Given the description of an element on the screen output the (x, y) to click on. 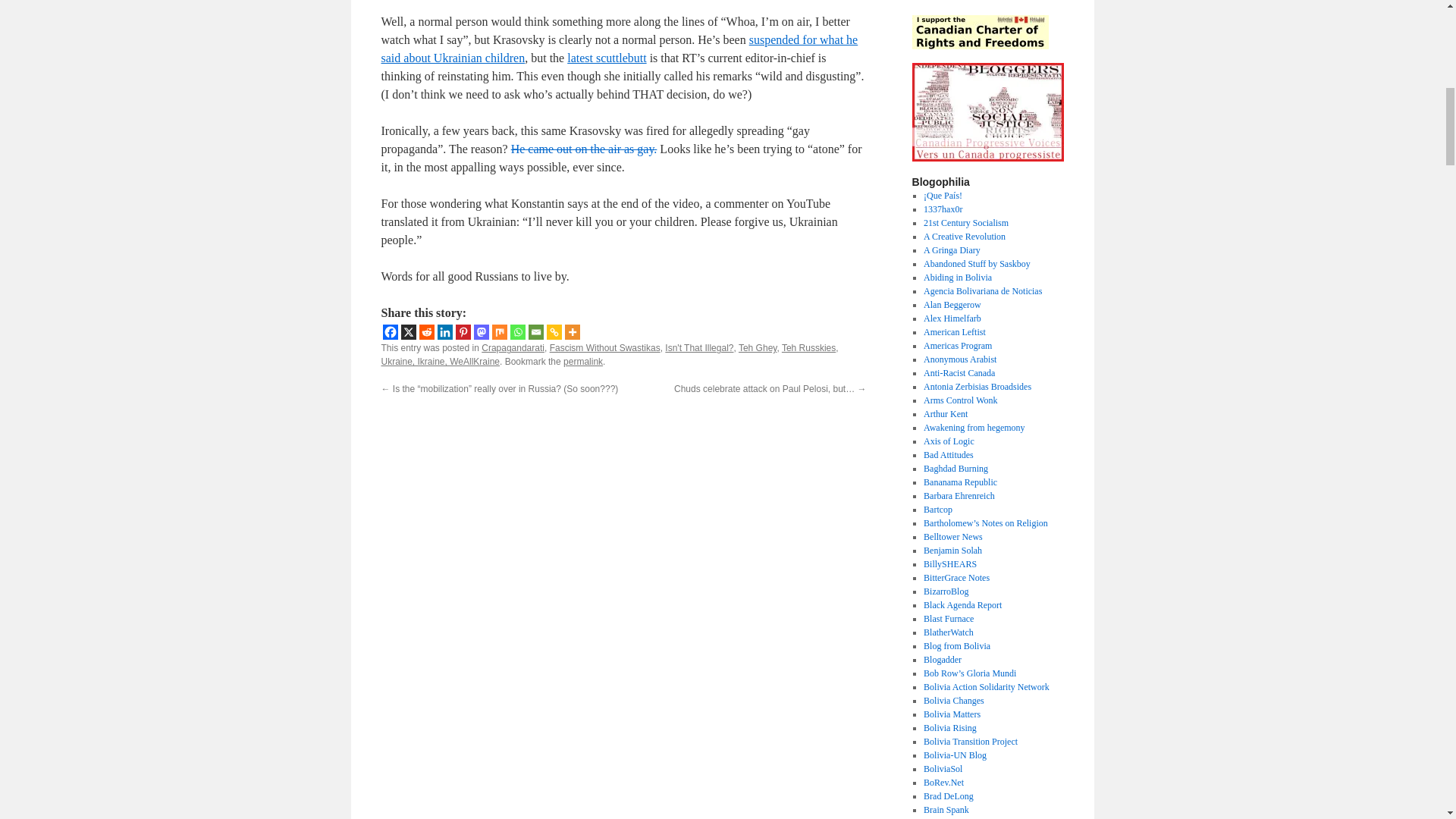
Facebook (389, 331)
Teh Russkies (808, 347)
Ukraine, Ikraine, WeAllKraine (439, 361)
Email (535, 331)
Abandoned Stuff by Saskboy (976, 263)
Mix (499, 331)
Linkedin (443, 331)
A Gringa Diary (605, 347)
A Creative Revolution (951, 249)
Whatsapp (964, 235)
X (516, 331)
Teh Ghey (407, 331)
permalink (757, 347)
